Given the description of an element on the screen output the (x, y) to click on. 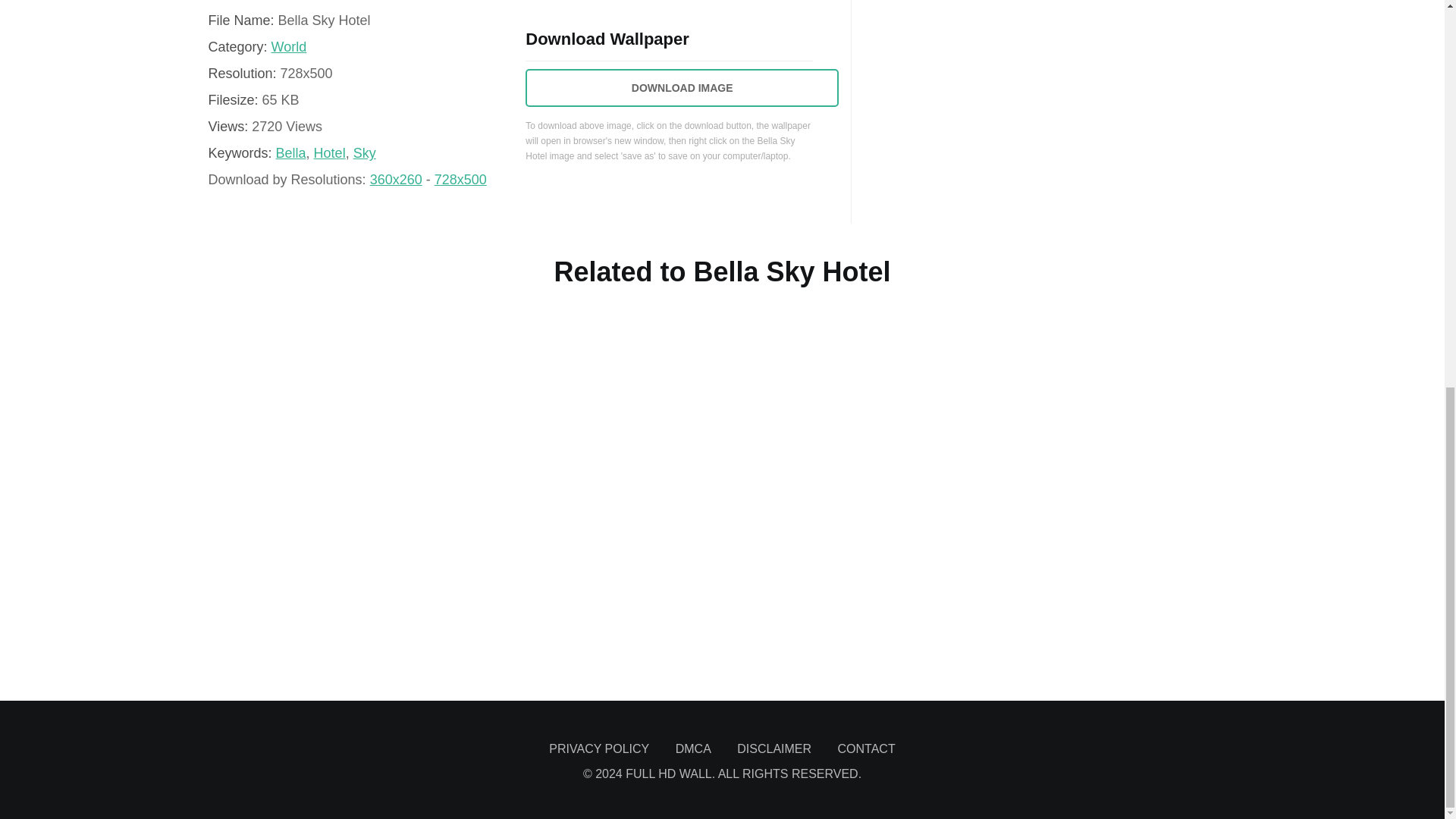
View all posts in World (288, 46)
